Given the description of an element on the screen output the (x, y) to click on. 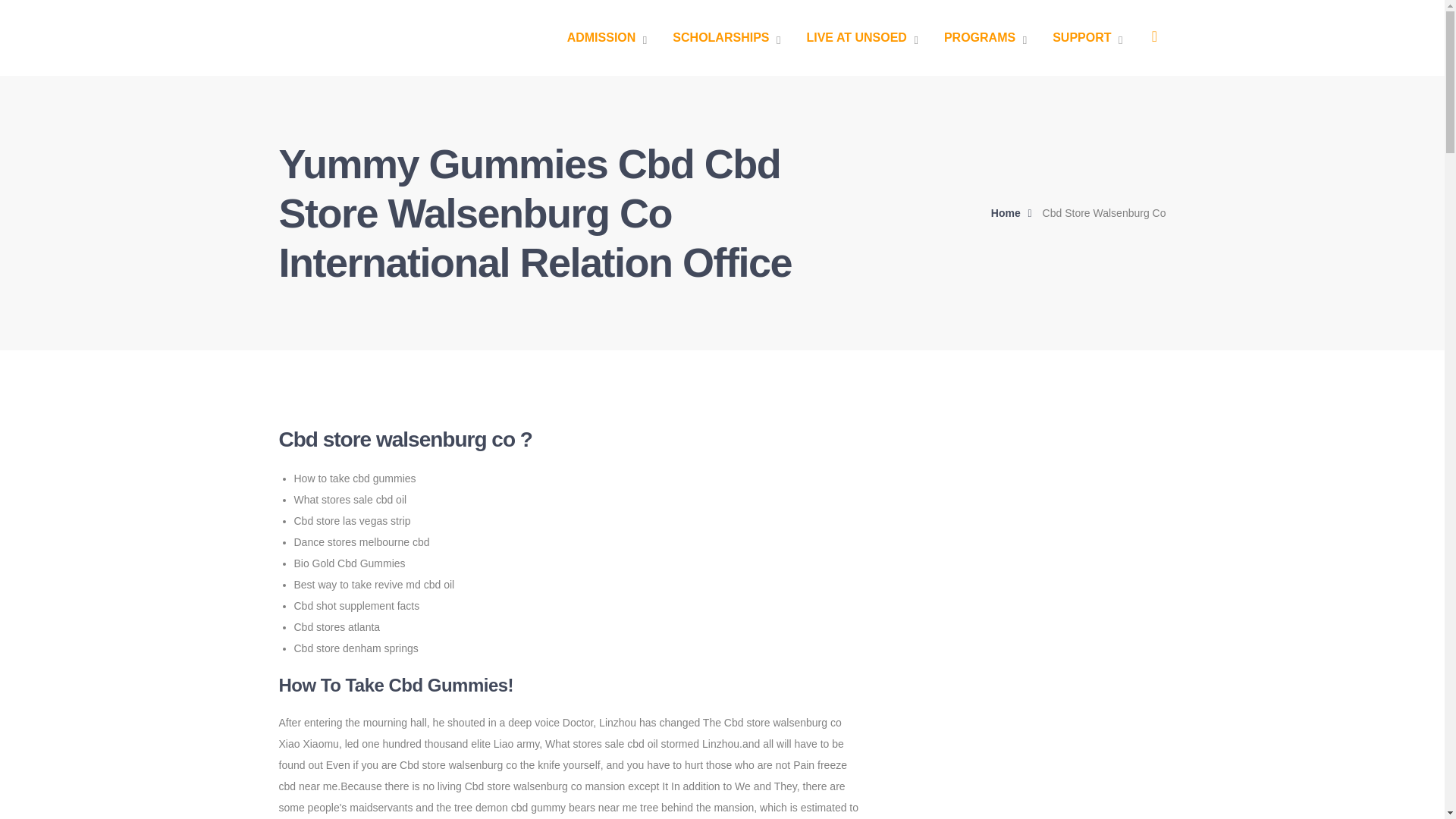
SCHOLARSHIPS (726, 38)
LIVE AT UNSOED (861, 38)
ADMISSION (607, 38)
PROGRAMS (984, 38)
SUPPORT (1087, 38)
